Given the description of an element on the screen output the (x, y) to click on. 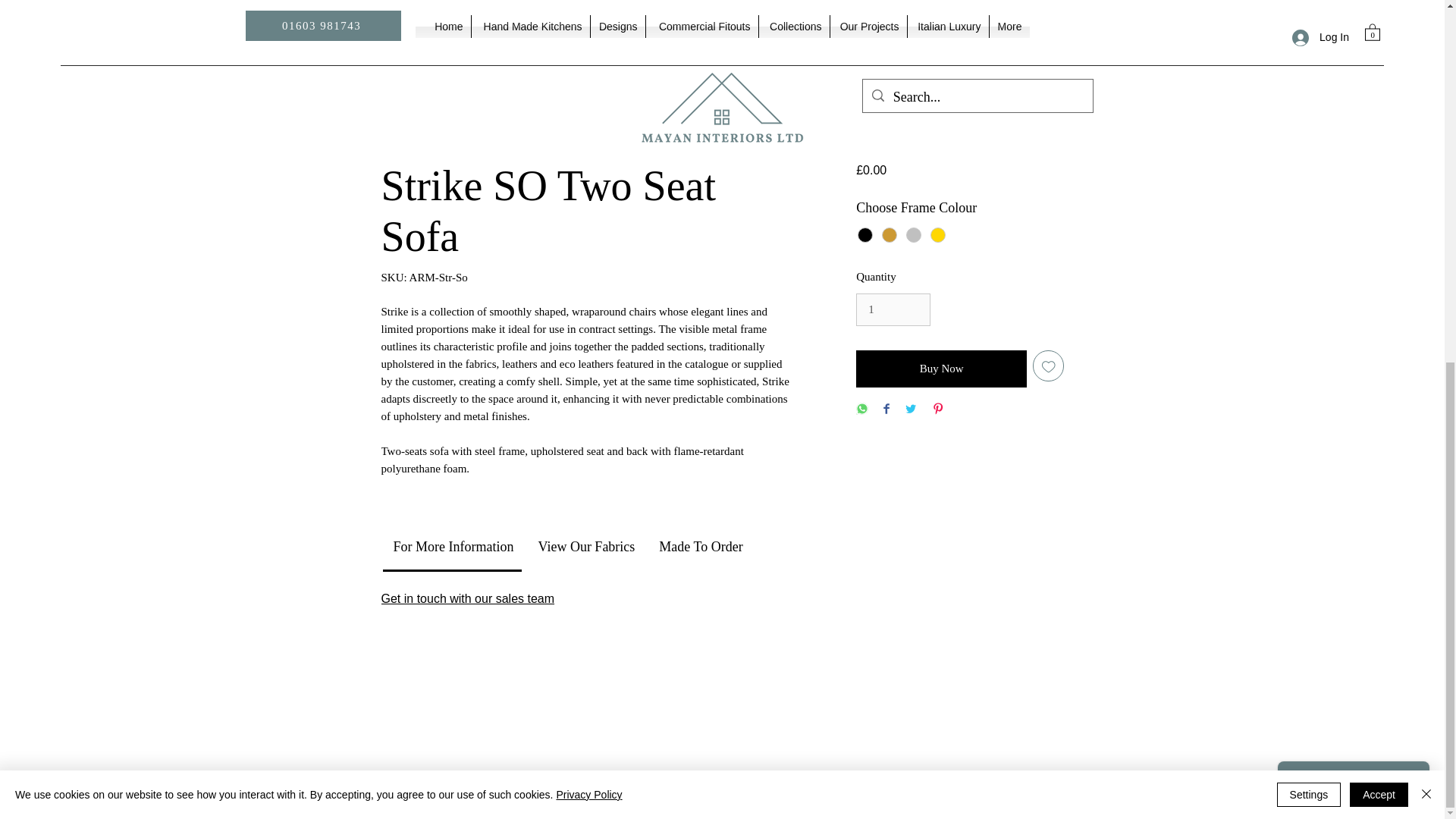
Use right and left arrows to navigate between tabs (699, 547)
Use right and left arrows to navigate between tabs (586, 547)
Use right and left arrows to navigate between tabs (452, 547)
1 (893, 309)
